Given the description of an element on the screen output the (x, y) to click on. 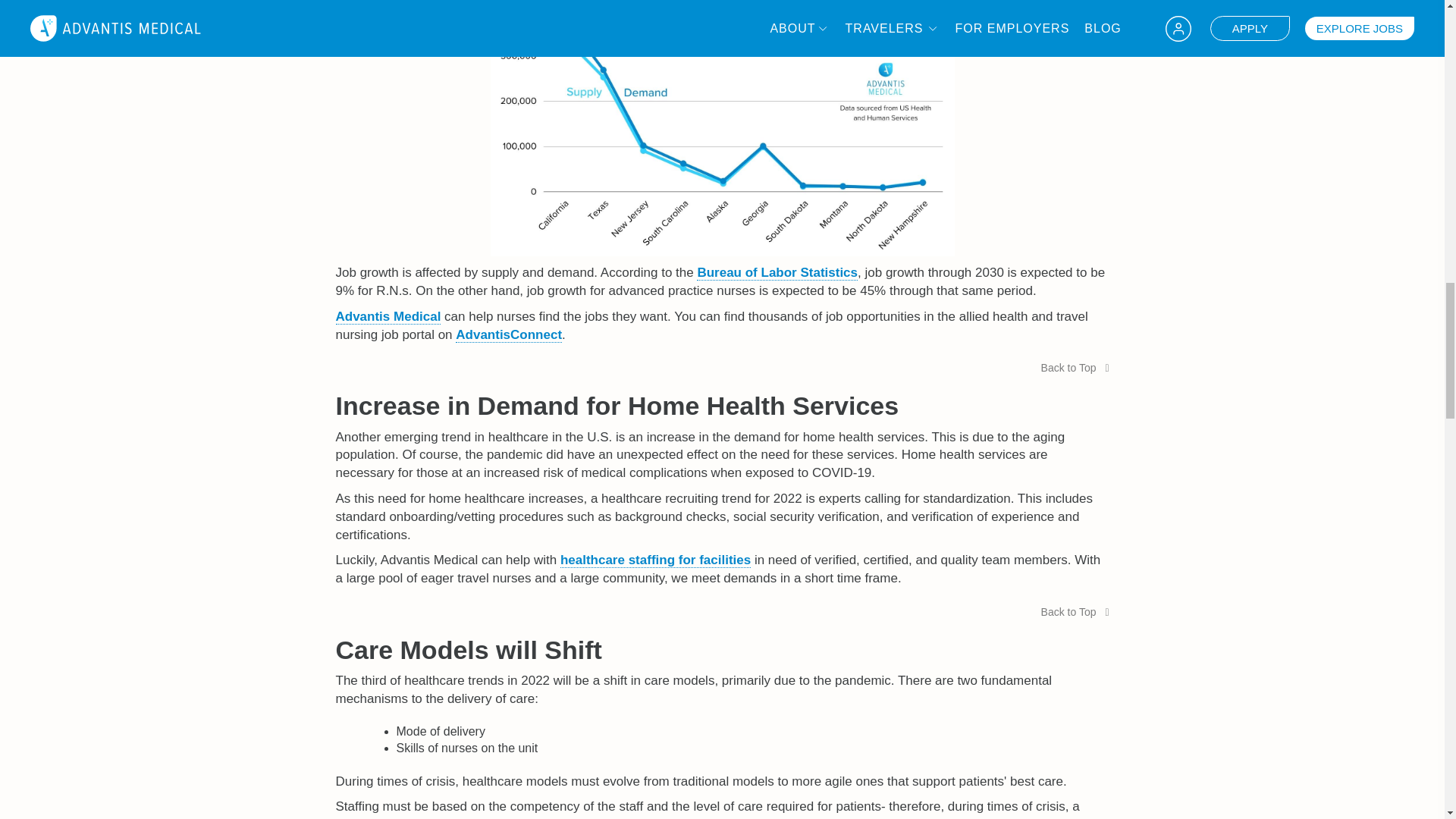
Advantis Medical (387, 316)
AdvantisConnect (508, 335)
healthcare staffing for facilities (655, 560)
Bureau of Labor Statistics (777, 272)
